Given the description of an element on the screen output the (x, y) to click on. 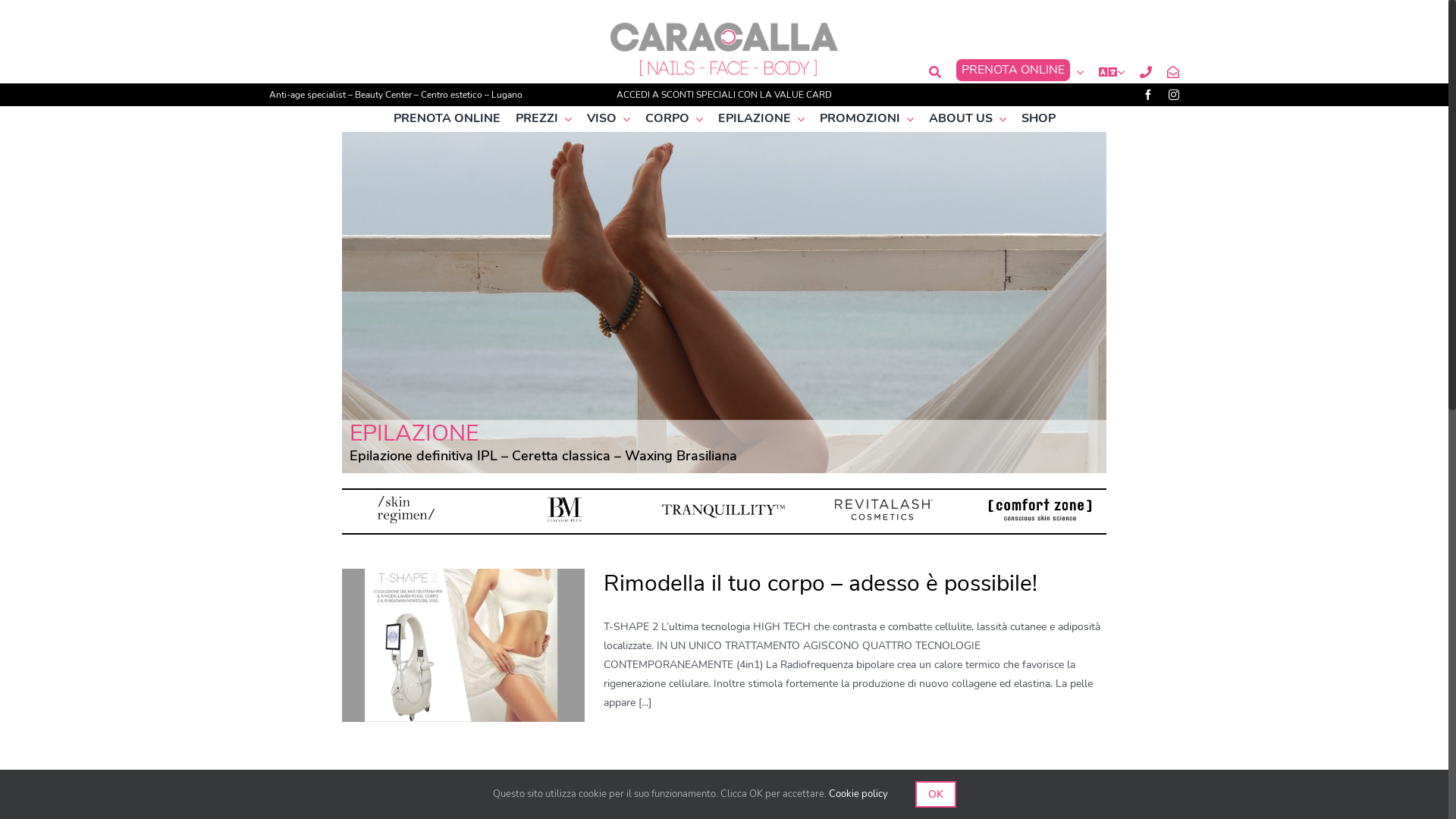
PRENOTA ONLINE Element type: text (445, 118)
CERCA Element type: hover (934, 72)
Agenda online, i tuoi dati sono sicuri? Element type: text (792, 785)
PREZZI Element type: text (543, 118)
Cookie policy Element type: text (857, 793)
Facebook Element type: hover (1147, 94)
OK Element type: text (934, 794)
CORPO Element type: text (673, 118)
EPILAZIONE Element type: text (760, 118)
ACCEDI A SCONTI SPECIALI CON LA VALUE CARD Element type: text (723, 94)
Instagram Element type: hover (1173, 94)
PROMOZIONI Element type: text (866, 118)
ABOUT US Element type: text (966, 118)
SHOP Element type: text (1037, 118)
VISO Element type: text (608, 118)
PRENOTA ONLINE Element type: text (1019, 72)
